Given the description of an element on the screen output the (x, y) to click on. 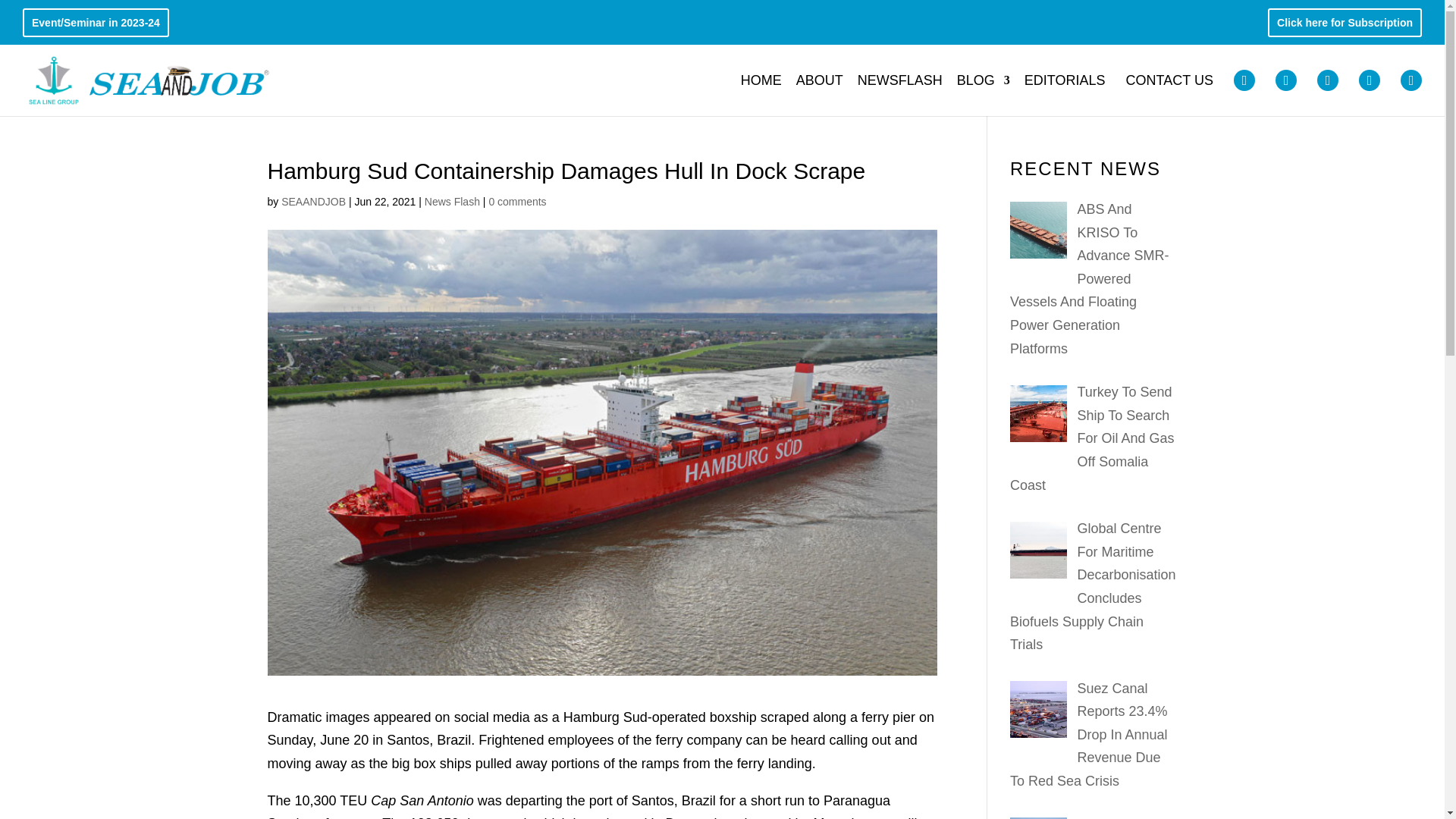
CONTACT US (1168, 92)
Posts by SEAANDJOB (313, 201)
EDITORIALS (1065, 92)
ABOUT (819, 92)
HOME (761, 92)
NEWSFLASH (899, 92)
News Flash (452, 201)
SEAANDJOB (313, 201)
0 comments (516, 201)
Click here for Subscription (1344, 26)
BLOG (983, 92)
